Given the description of an element on the screen output the (x, y) to click on. 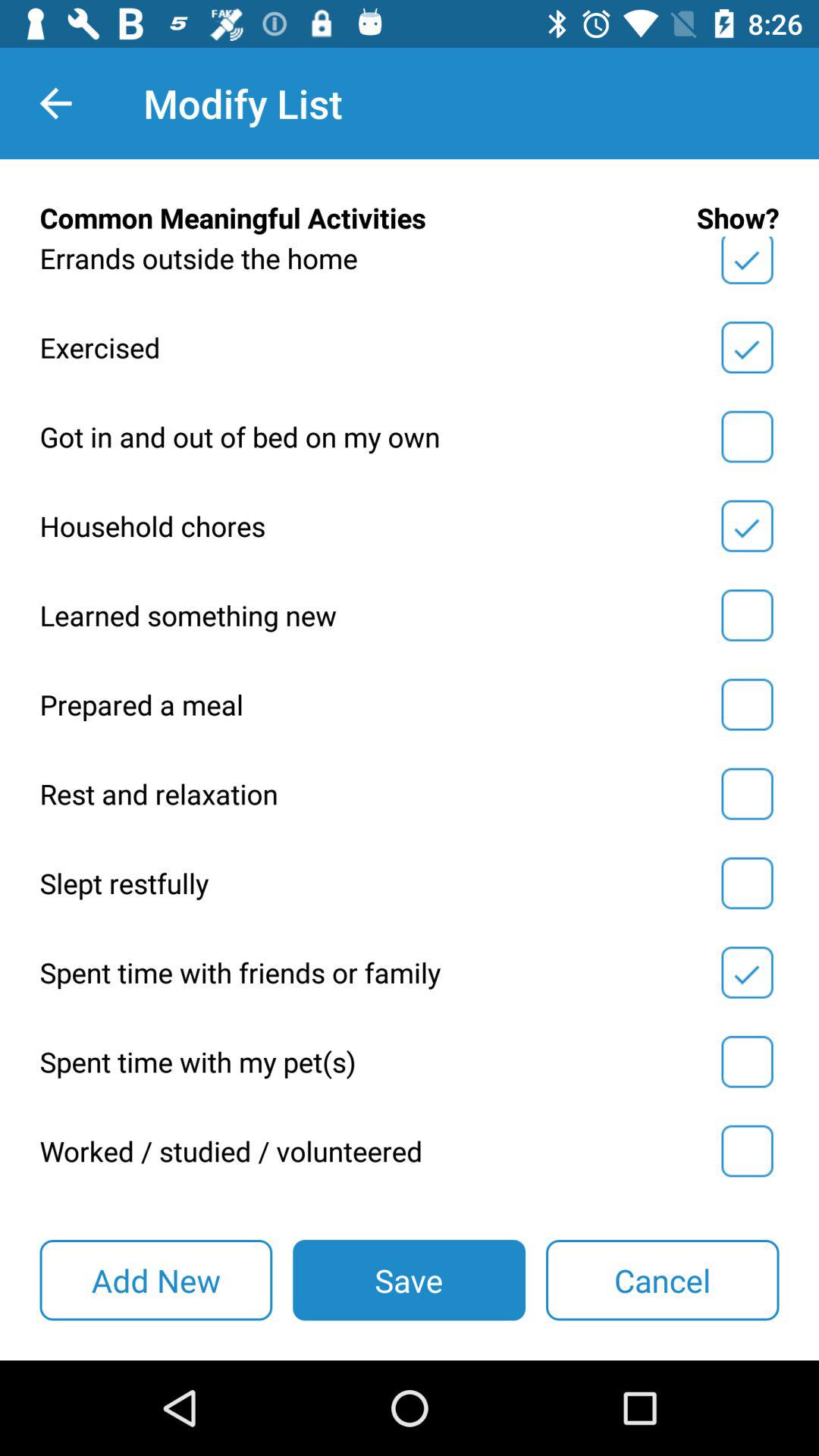
check the activities in your bucketlist (747, 525)
